Given the description of an element on the screen output the (x, y) to click on. 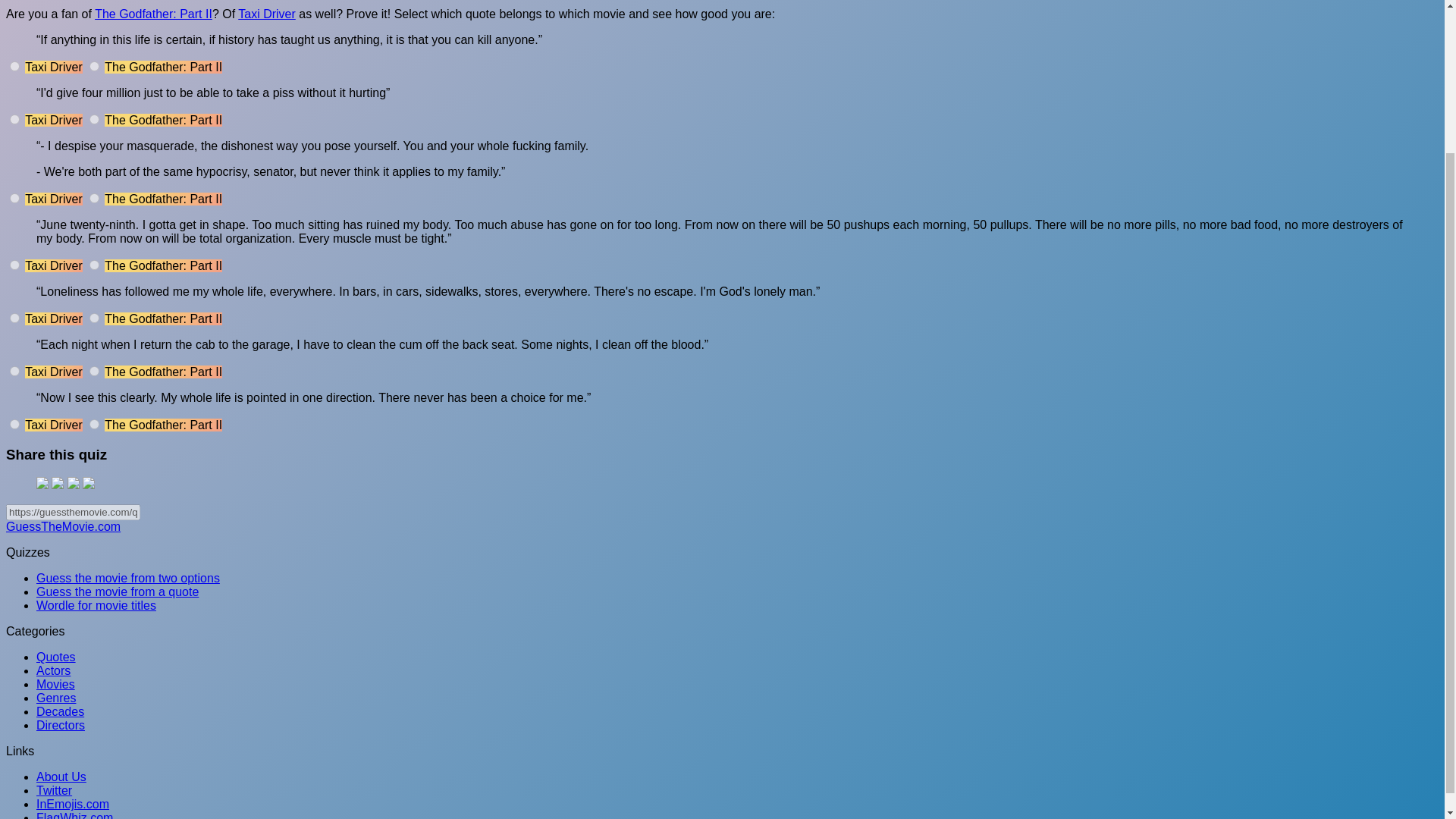
on (15, 370)
Movies (55, 684)
on (93, 424)
on (93, 119)
on (93, 370)
Twitter (53, 789)
on (93, 66)
Decades (60, 711)
on (93, 317)
on (15, 424)
Genres (55, 697)
on (93, 265)
Guess the movie from a quote (117, 591)
Wordle for movie titles (95, 604)
About Us (60, 776)
